Given the description of an element on the screen output the (x, y) to click on. 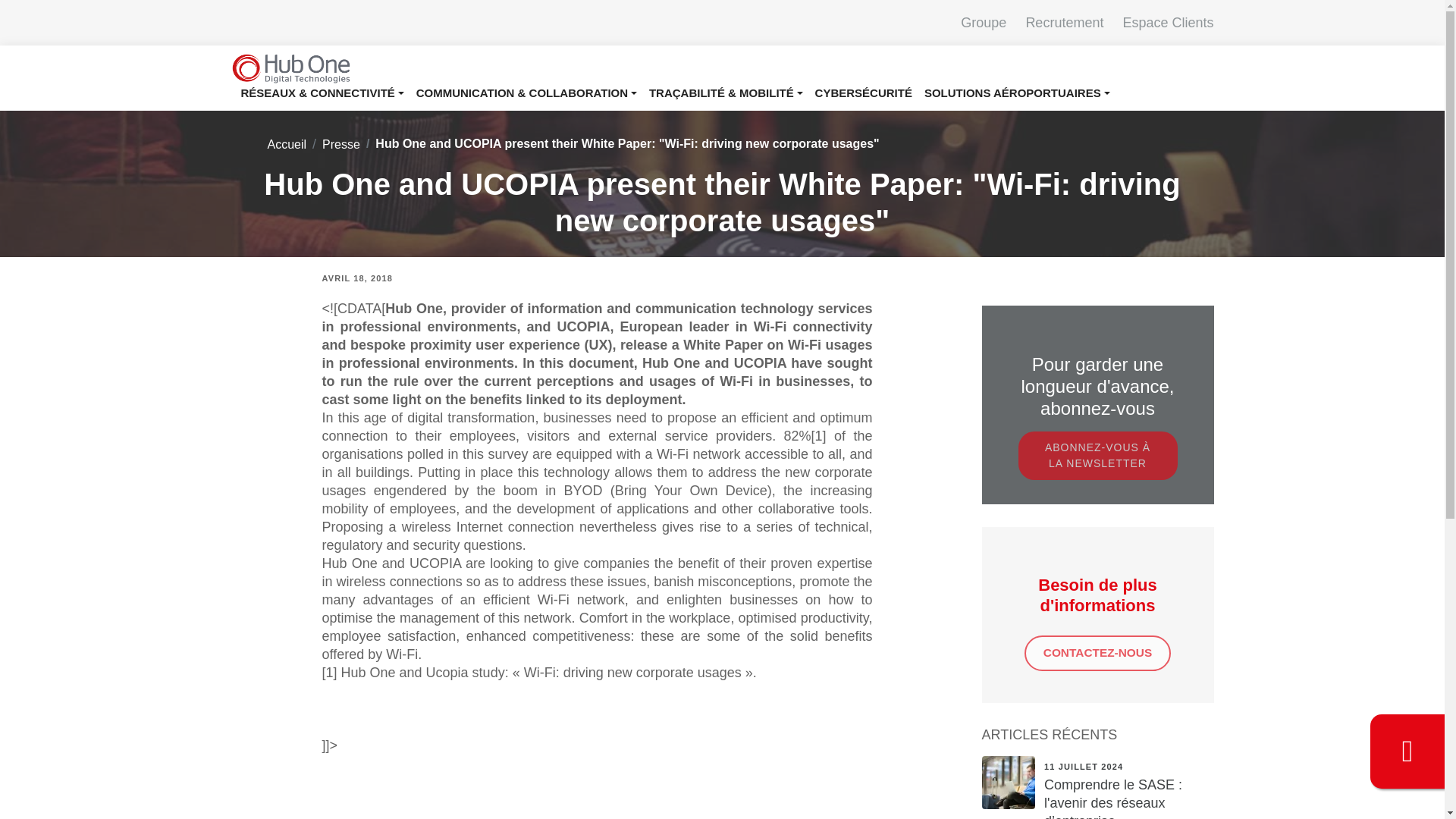
Presse (340, 144)
Recrutement (1056, 22)
Groupe (975, 22)
HubOne (290, 68)
Espace Clients (1159, 22)
